Given the description of an element on the screen output the (x, y) to click on. 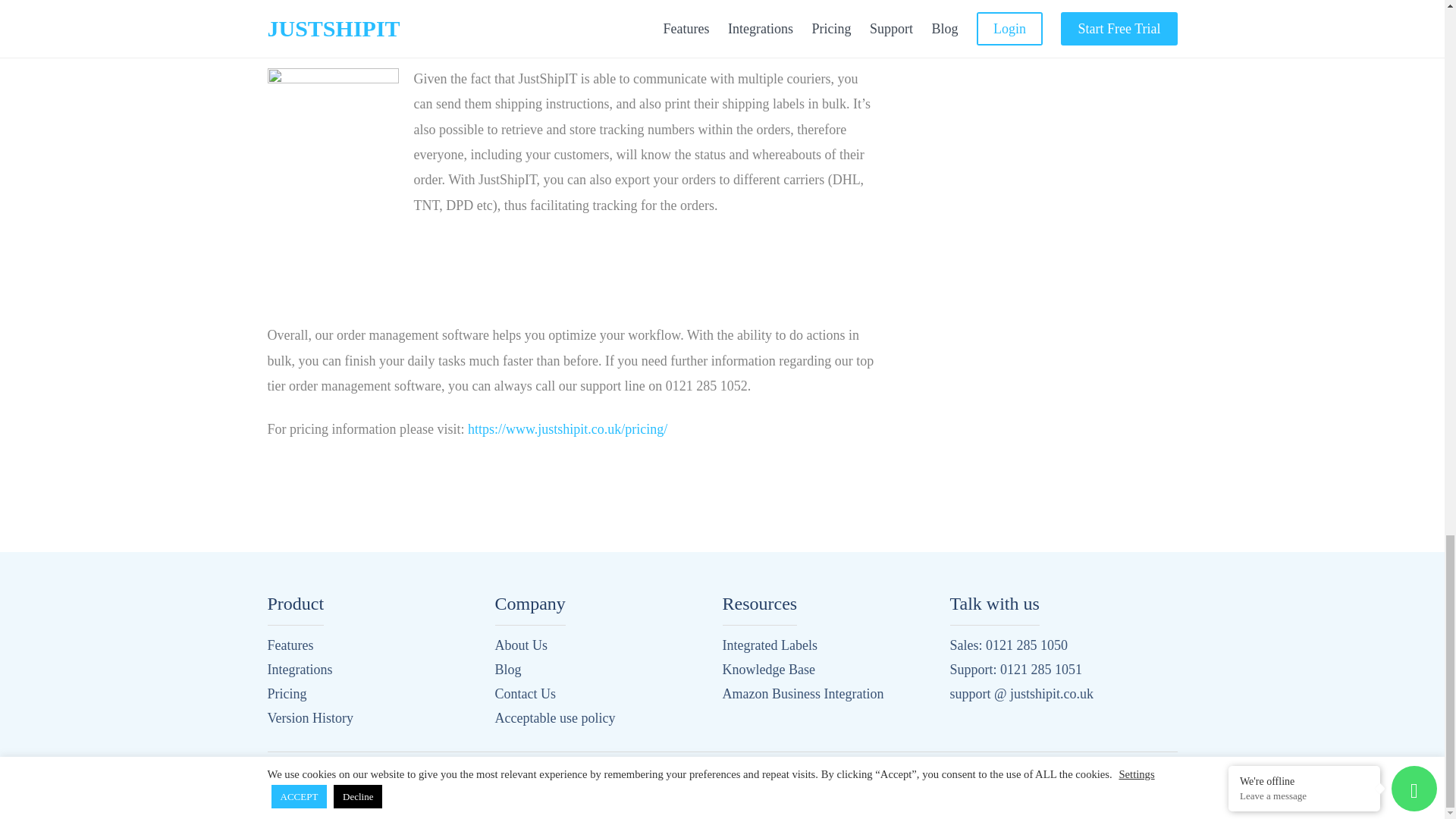
Support: 0121 285 1051 (1015, 669)
Knowledge Base (767, 669)
Amazon Business Integration (802, 693)
Blog (508, 669)
About Us (521, 645)
Version History (309, 717)
Acceptable use policy (554, 717)
Wehost (437, 793)
Contact Us (525, 693)
Privacy Policy (1026, 779)
Sales: 0121 285 1050 (1008, 645)
Integrated Labels (769, 645)
Integrations (298, 669)
Features (289, 645)
Pricing (285, 693)
